Given the description of an element on the screen output the (x, y) to click on. 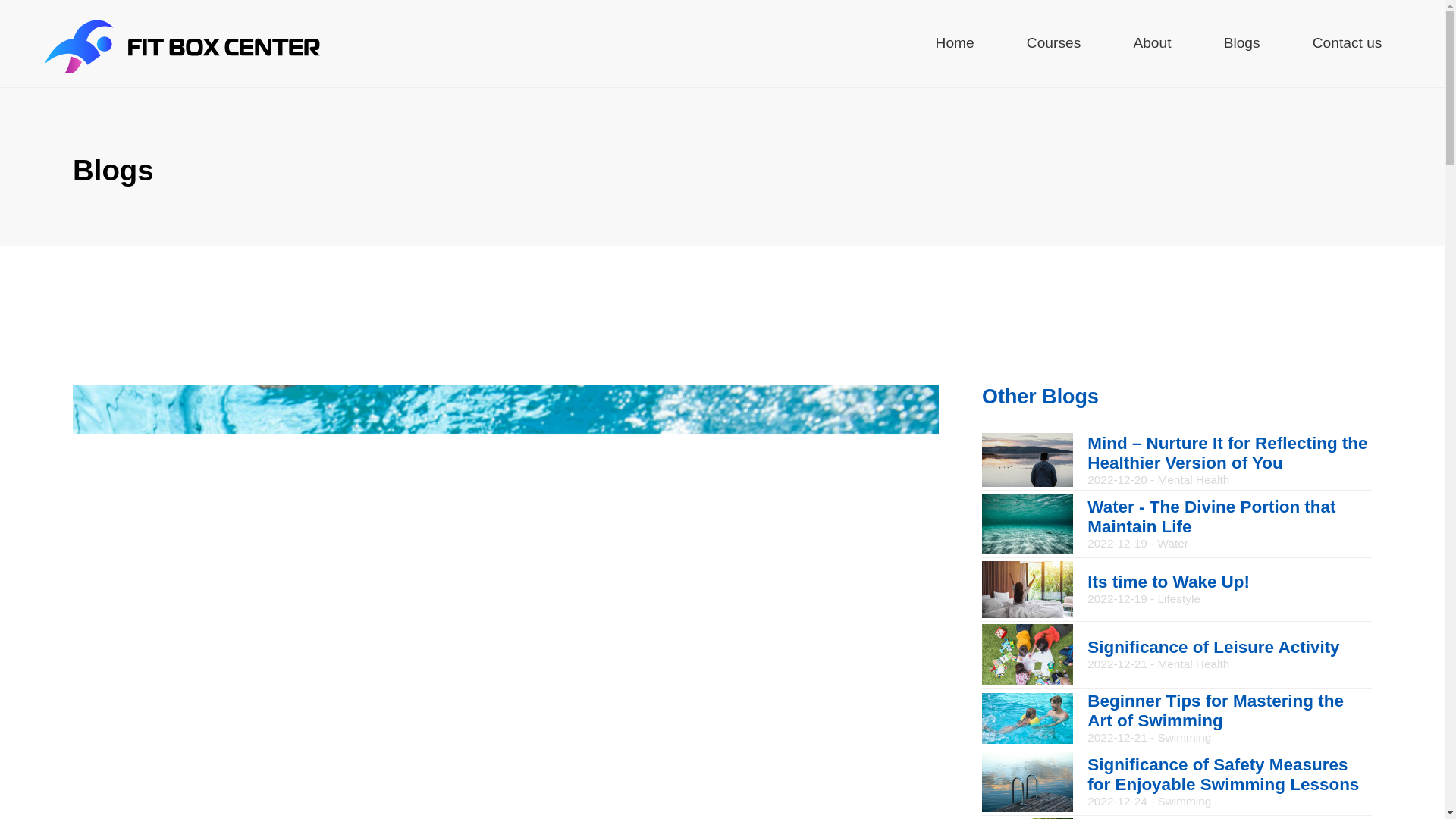
Home (955, 44)
Blogs (1242, 44)
About (1151, 44)
Courses (1176, 589)
Contact us (1053, 44)
